Given the description of an element on the screen output the (x, y) to click on. 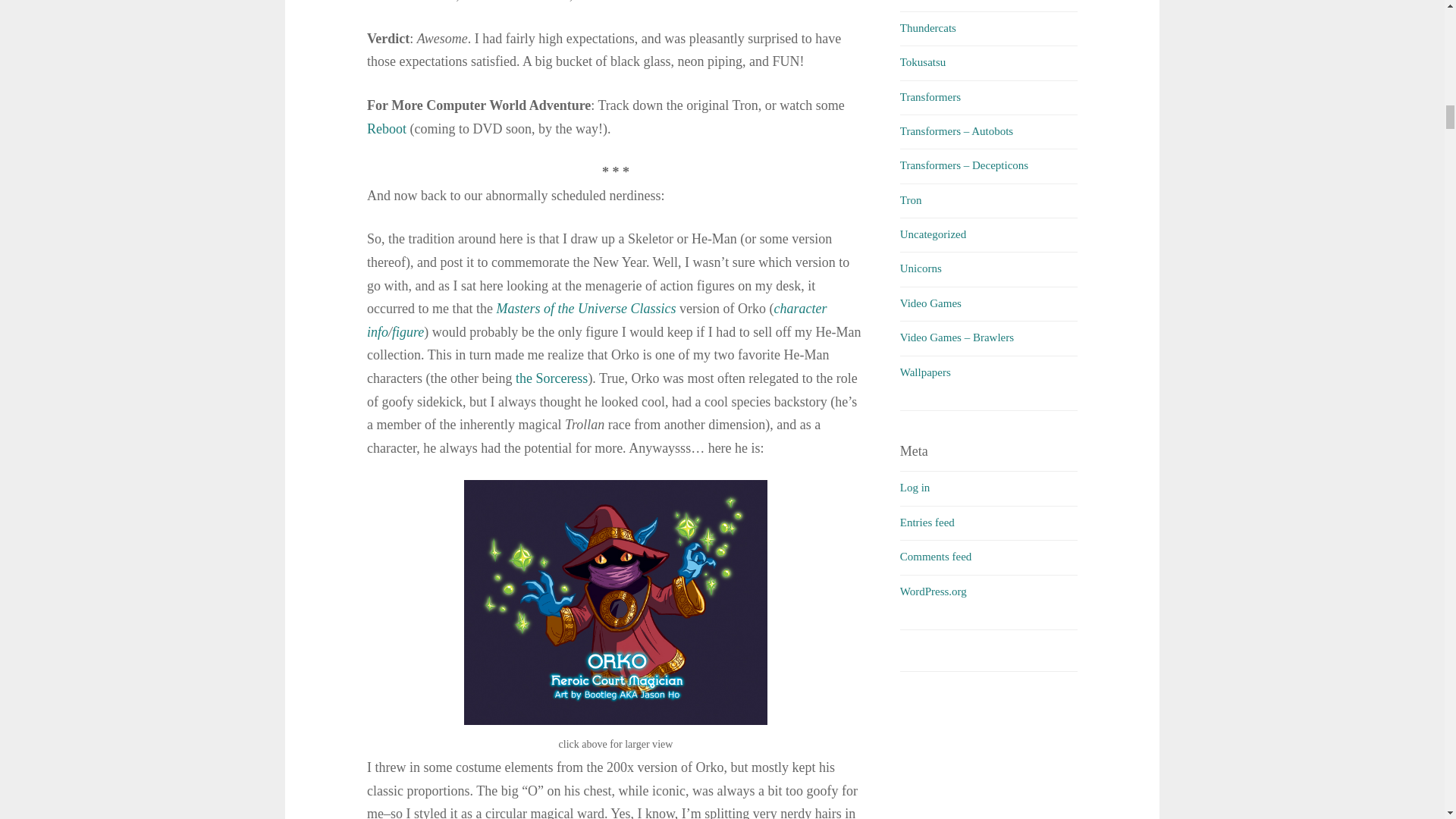
Masters of the Universe Classics (585, 308)
Reboot (386, 128)
